Given the description of an element on the screen output the (x, y) to click on. 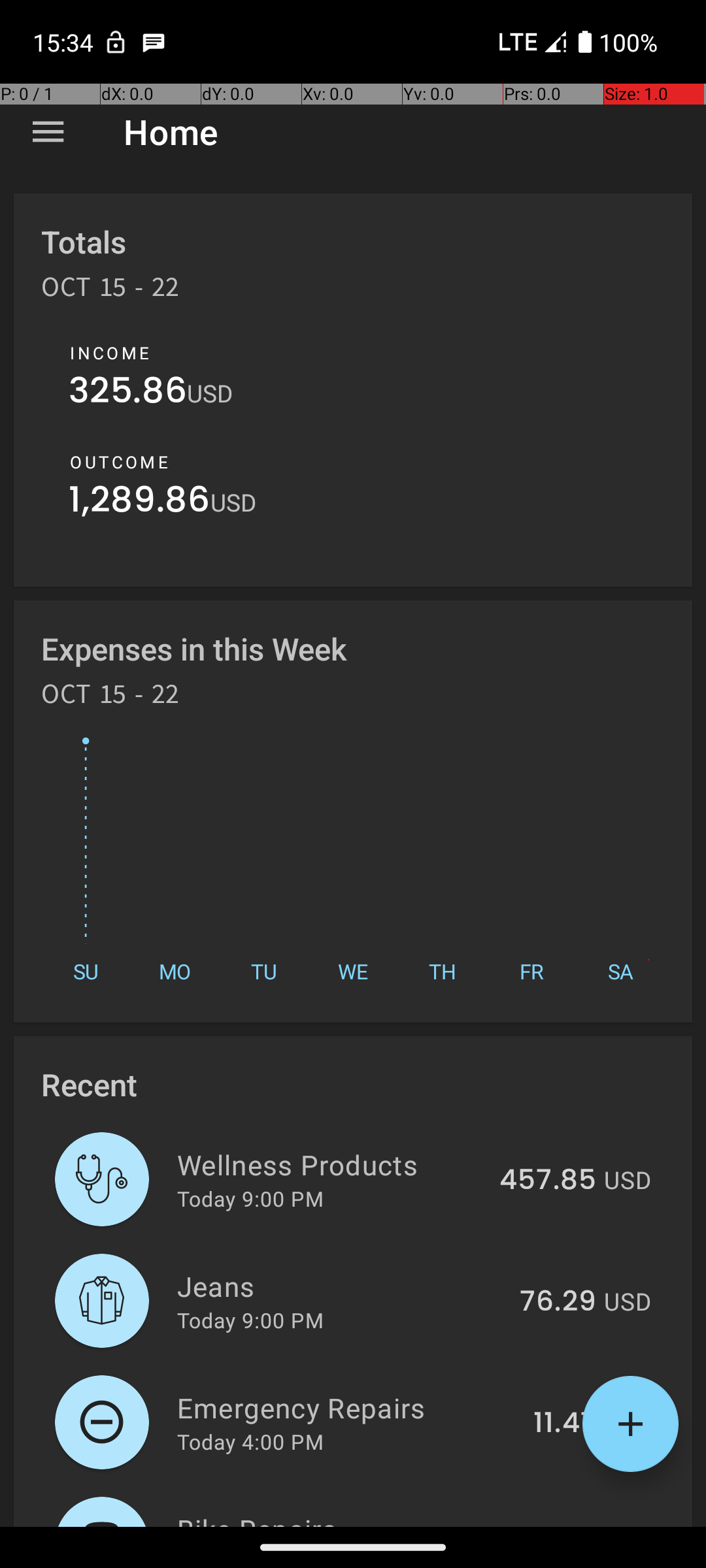
325.86 Element type: android.widget.TextView (127, 393)
1,289.86 Element type: android.widget.TextView (139, 502)
Wellness Products Element type: android.widget.TextView (330, 1164)
Today 9:00 PM Element type: android.widget.TextView (250, 1198)
457.85 Element type: android.widget.TextView (547, 1180)
Jeans Element type: android.widget.TextView (340, 1285)
76.29 Element type: android.widget.TextView (557, 1301)
Emergency Repairs Element type: android.widget.TextView (347, 1407)
Today 4:00 PM Element type: android.widget.TextView (250, 1441)
11.47 Element type: android.widget.TextView (564, 1423)
Bike Repairs Element type: android.widget.TextView (338, 1518)
133.16 Element type: android.widget.TextView (555, 1524)
